Given the description of an element on the screen output the (x, y) to click on. 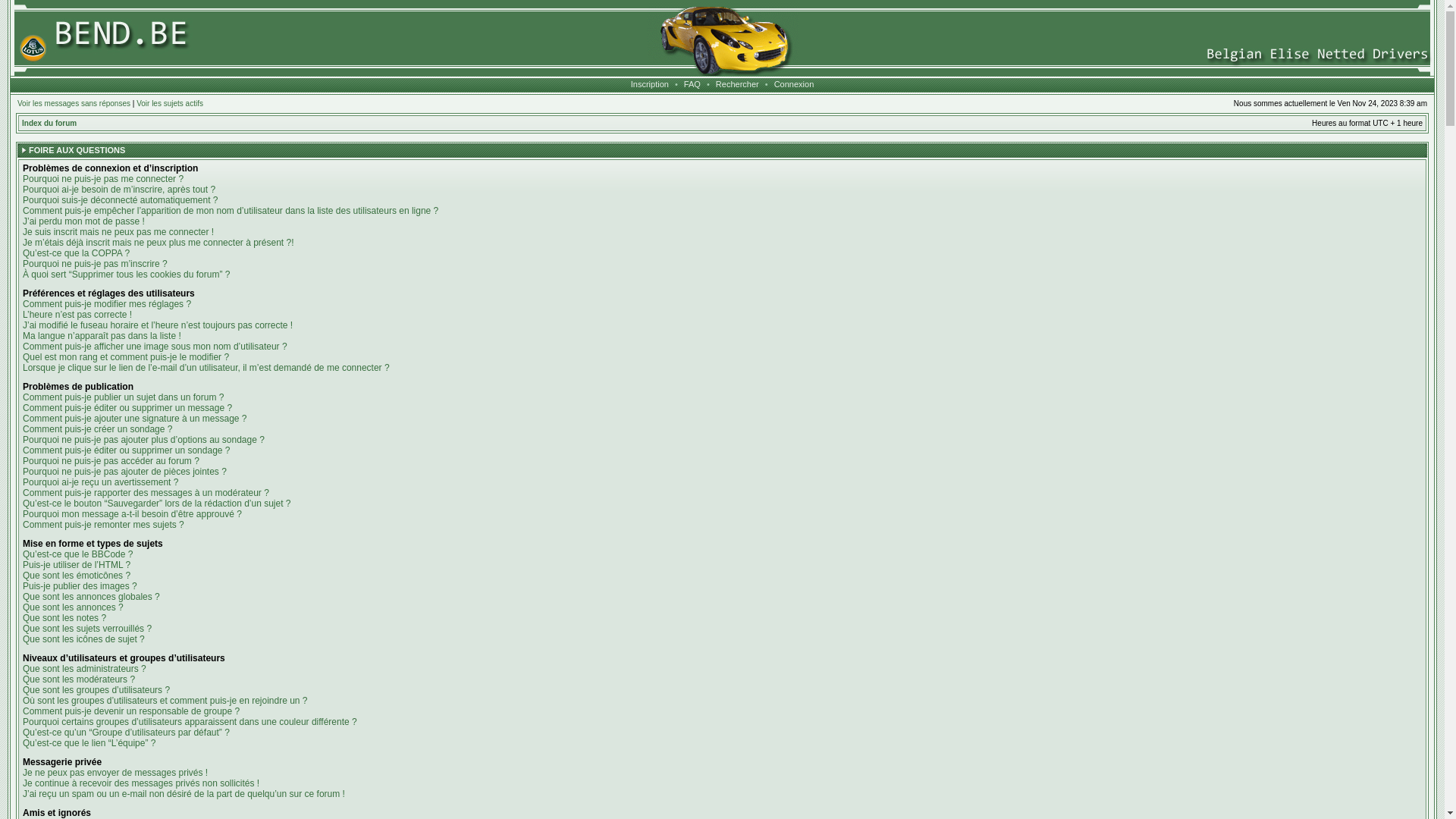
Rechercher Element type: text (737, 83)
Index du forum Element type: text (48, 123)
Puis-je publier des images ? Element type: text (79, 585)
Que sont les notes ? Element type: text (64, 617)
Connexion Element type: text (794, 83)
Inscription Element type: text (649, 83)
Que sont les annonces ? Element type: text (72, 607)
Je suis inscrit mais ne peux pas me connecter ! Element type: text (117, 231)
Que sont les administrateurs ? Element type: text (84, 668)
Comment puis-je remonter mes sujets ? Element type: text (103, 524)
Pourquoi ne puis-je pas me connecter ? Element type: text (102, 178)
Comment puis-je devenir un responsable de groupe ? Element type: text (130, 711)
Quel est mon rang et comment puis-je le modifier ? Element type: text (125, 356)
FAQ Element type: text (692, 83)
Comment puis-je publier un sujet dans un forum ? Element type: text (122, 397)
Que sont les annonces globales ? Element type: text (91, 596)
Voir les sujets actifs Element type: text (169, 103)
